Given the description of an element on the screen output the (x, y) to click on. 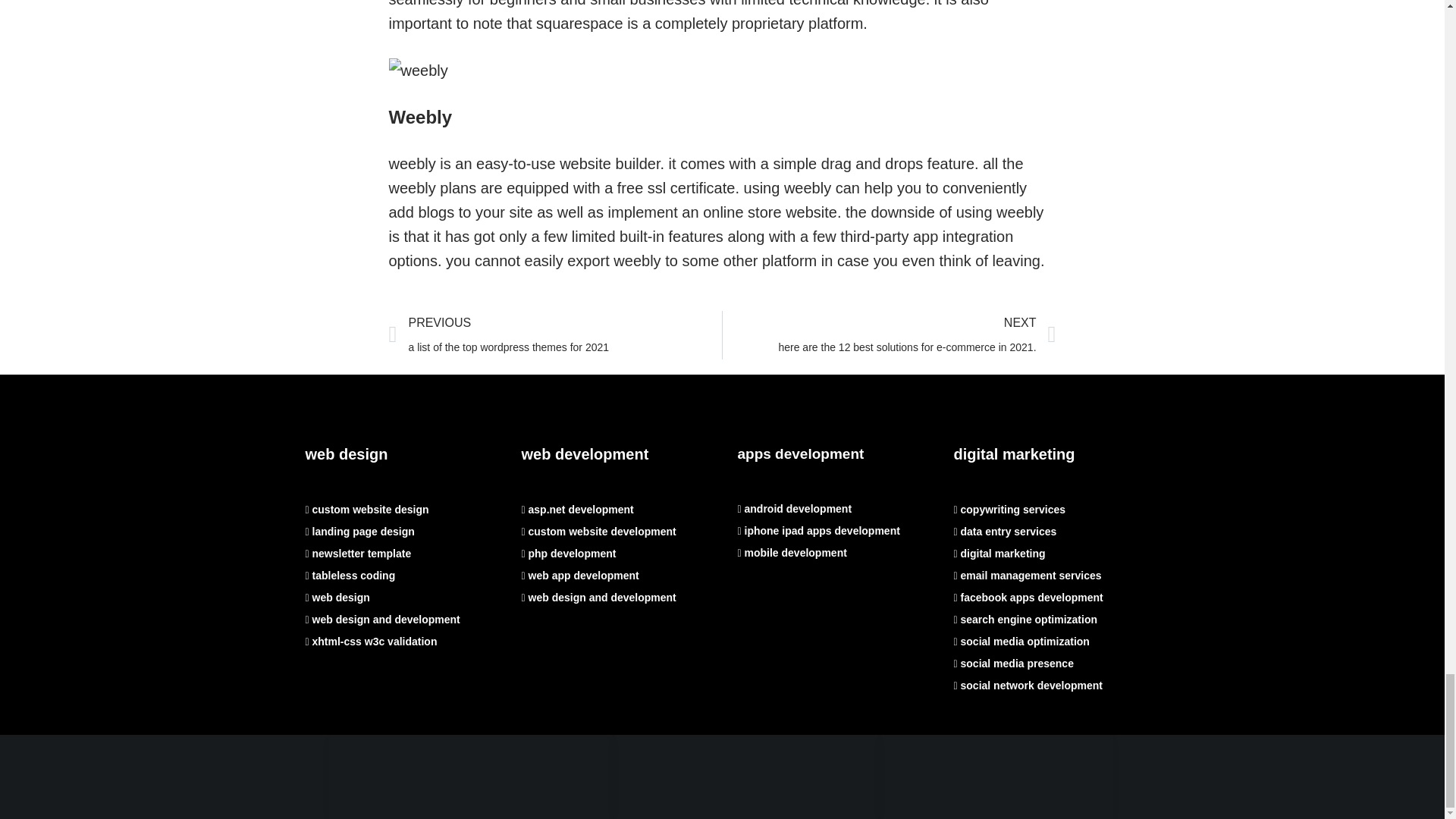
web design (345, 453)
landing page design (358, 531)
asp.net development (577, 509)
mobile development (555, 335)
newsletter template (790, 552)
apps development (357, 553)
tableless coding (799, 453)
custom website development (349, 575)
data entry services (599, 531)
digital marketing (1005, 531)
digital marketing (999, 553)
copywriting services (1014, 453)
web design and development (1009, 509)
xhtml-css w3c validation (599, 597)
